Given the description of an element on the screen output the (x, y) to click on. 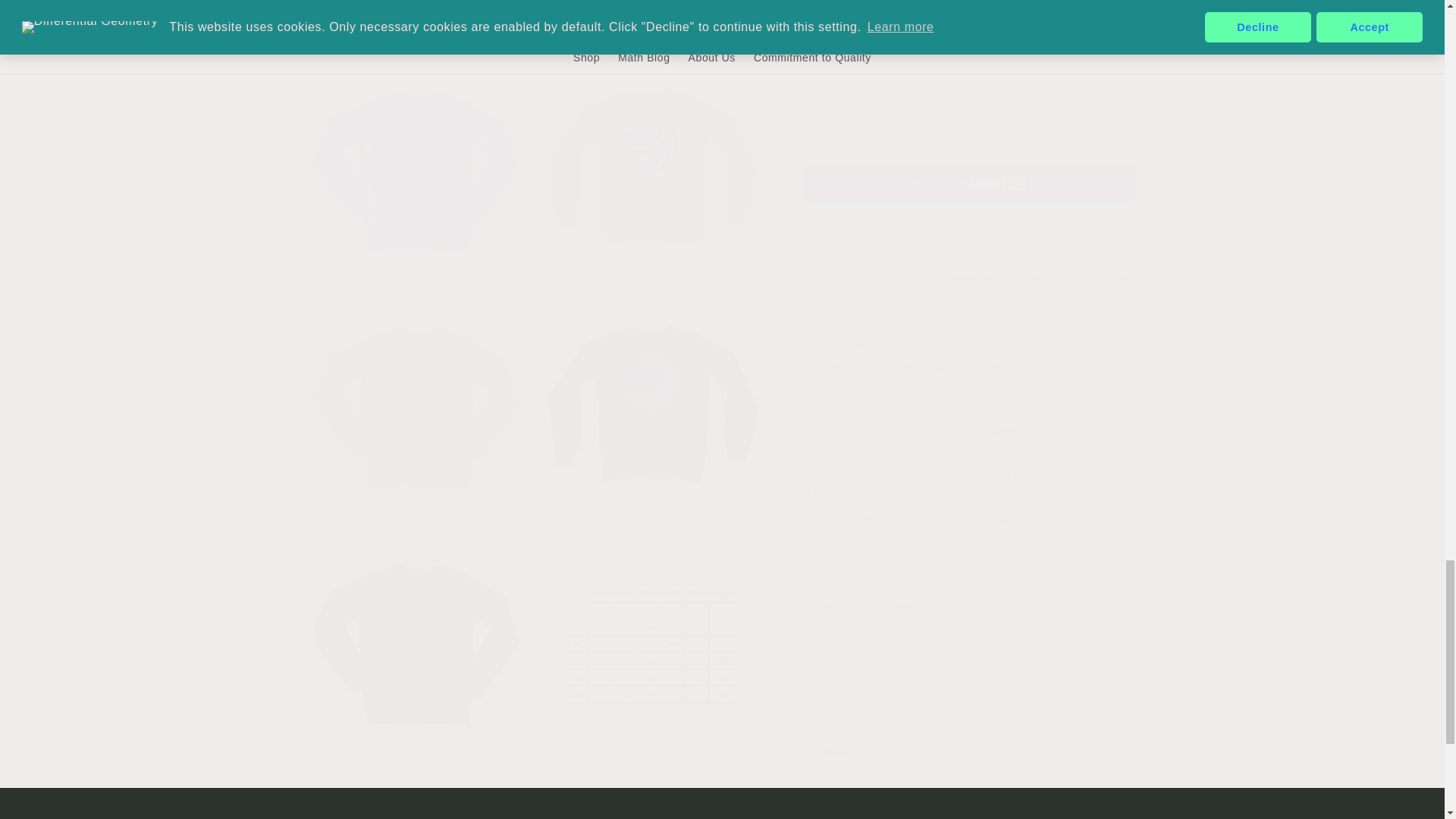
Open media 18 in modal (415, 155)
Open media 17 in modal (652, 14)
Open media 19 in modal (652, 155)
Open media 20 in modal (415, 391)
Open media 22 in modal (415, 628)
Open media 23 in modal (652, 628)
Open media 16 in modal (415, 14)
Open media 21 in modal (652, 391)
